Given the description of an element on the screen output the (x, y) to click on. 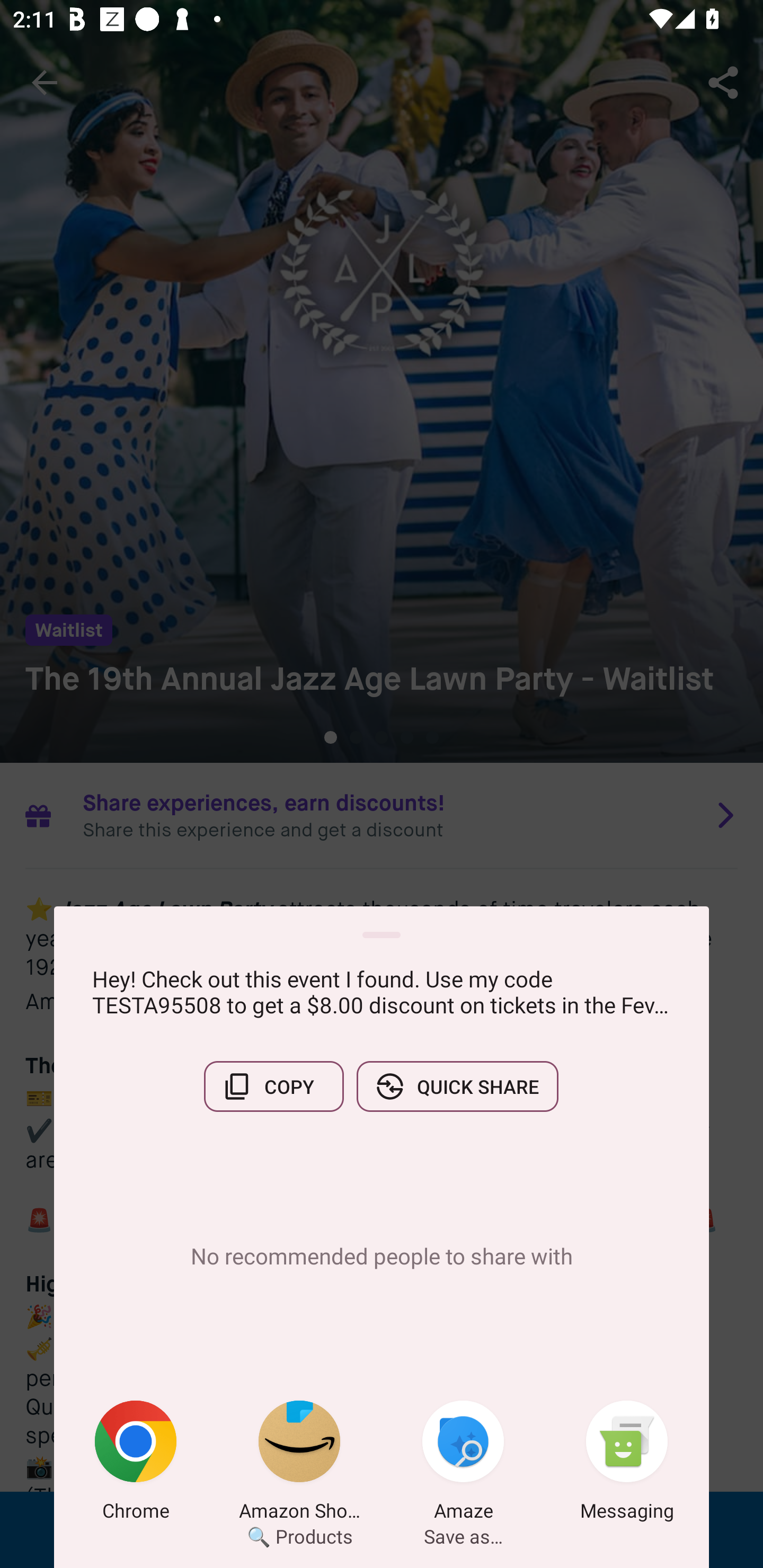
COPY (273, 1086)
QUICK SHARE (457, 1086)
Chrome (135, 1463)
Amazon Shopping 🔍 Products (299, 1463)
Amaze Save as… (463, 1463)
Messaging (626, 1463)
